Given the description of an element on the screen output the (x, y) to click on. 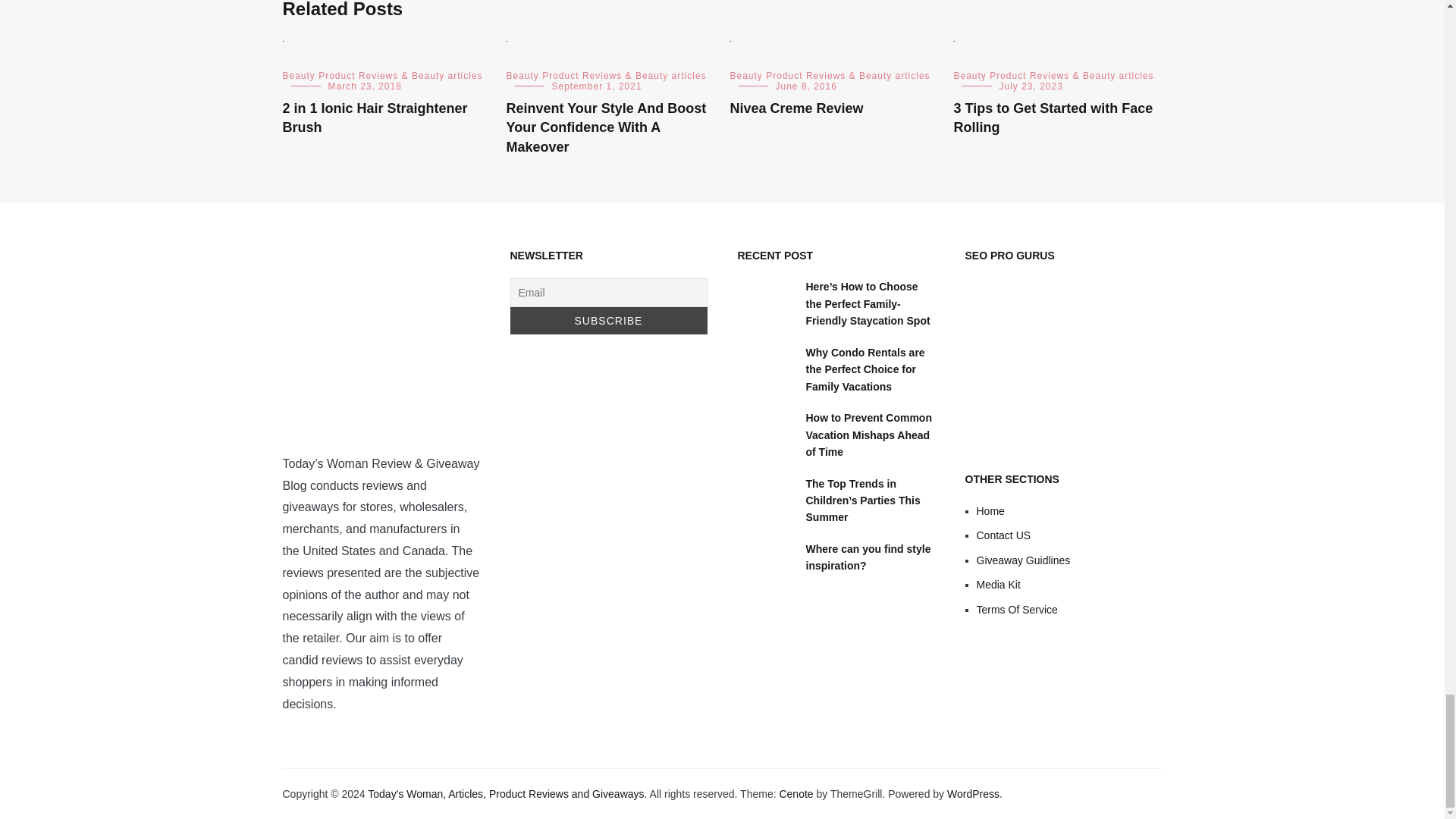
Subscribe (607, 320)
Today's Woman, Articles, Product Reviews and Giveaways (505, 793)
